Given the description of an element on the screen output the (x, y) to click on. 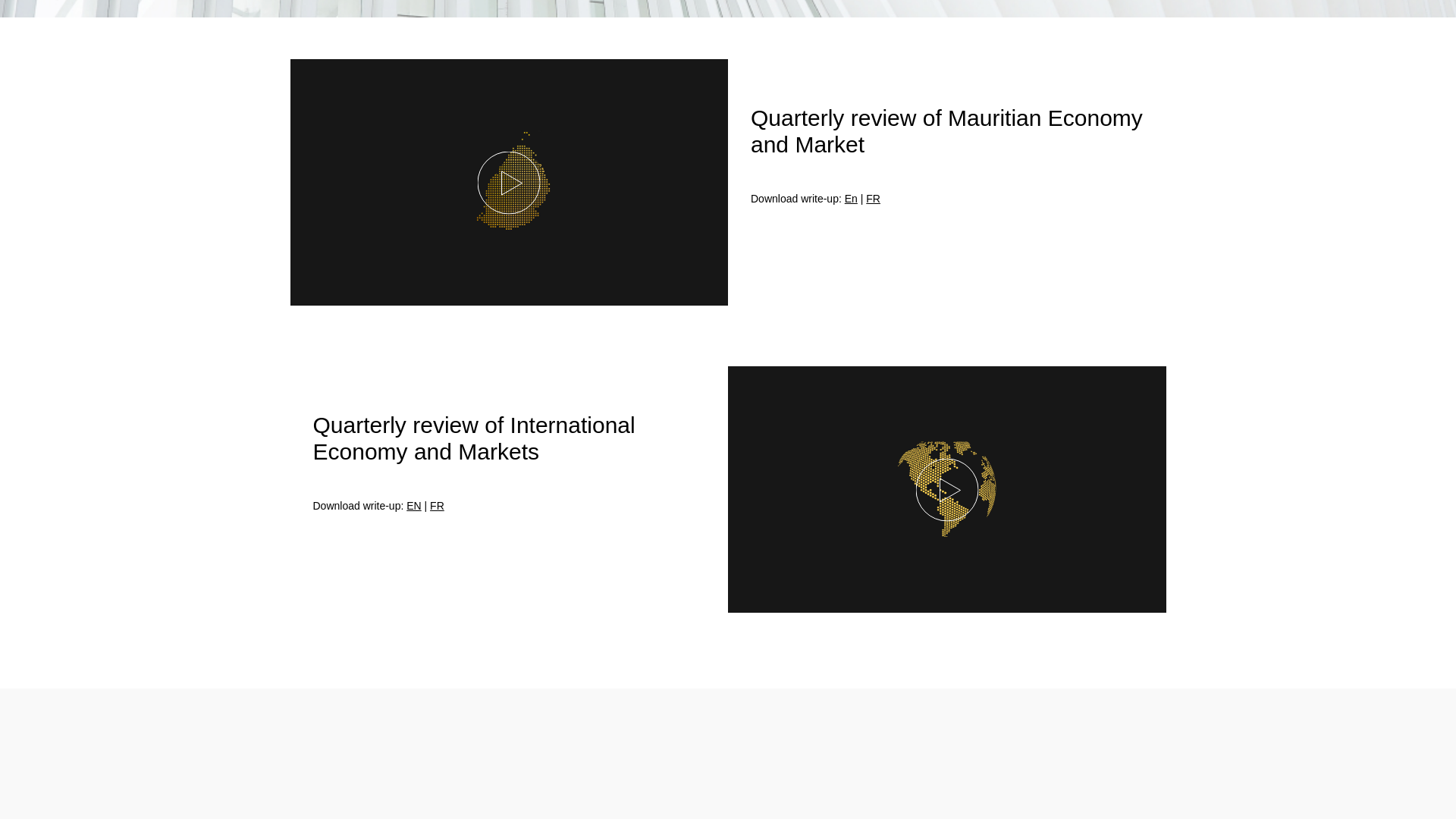
FR (436, 505)
EN (413, 505)
FR (873, 198)
En (850, 198)
FR (873, 198)
En (850, 198)
EN (413, 505)
FR (436, 505)
